Given the description of an element on the screen output the (x, y) to click on. 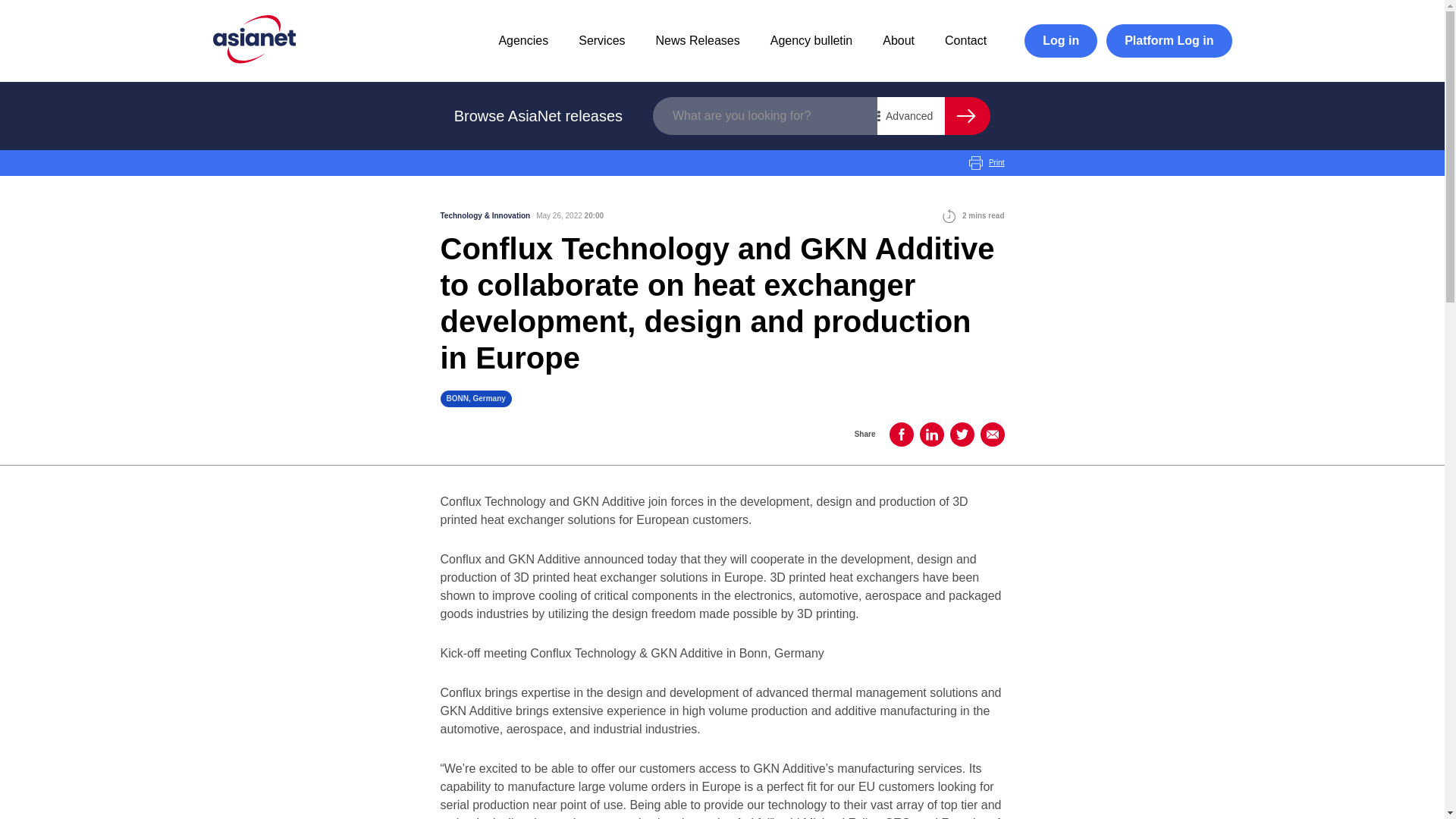
About (898, 40)
Share on Twitter (961, 434)
Log in (1061, 40)
Agencies (522, 40)
Advanced (910, 116)
Share using Email (991, 434)
Print (986, 162)
Contact (965, 40)
Share on LinkedIn (930, 434)
Services (601, 40)
